Given the description of an element on the screen output the (x, y) to click on. 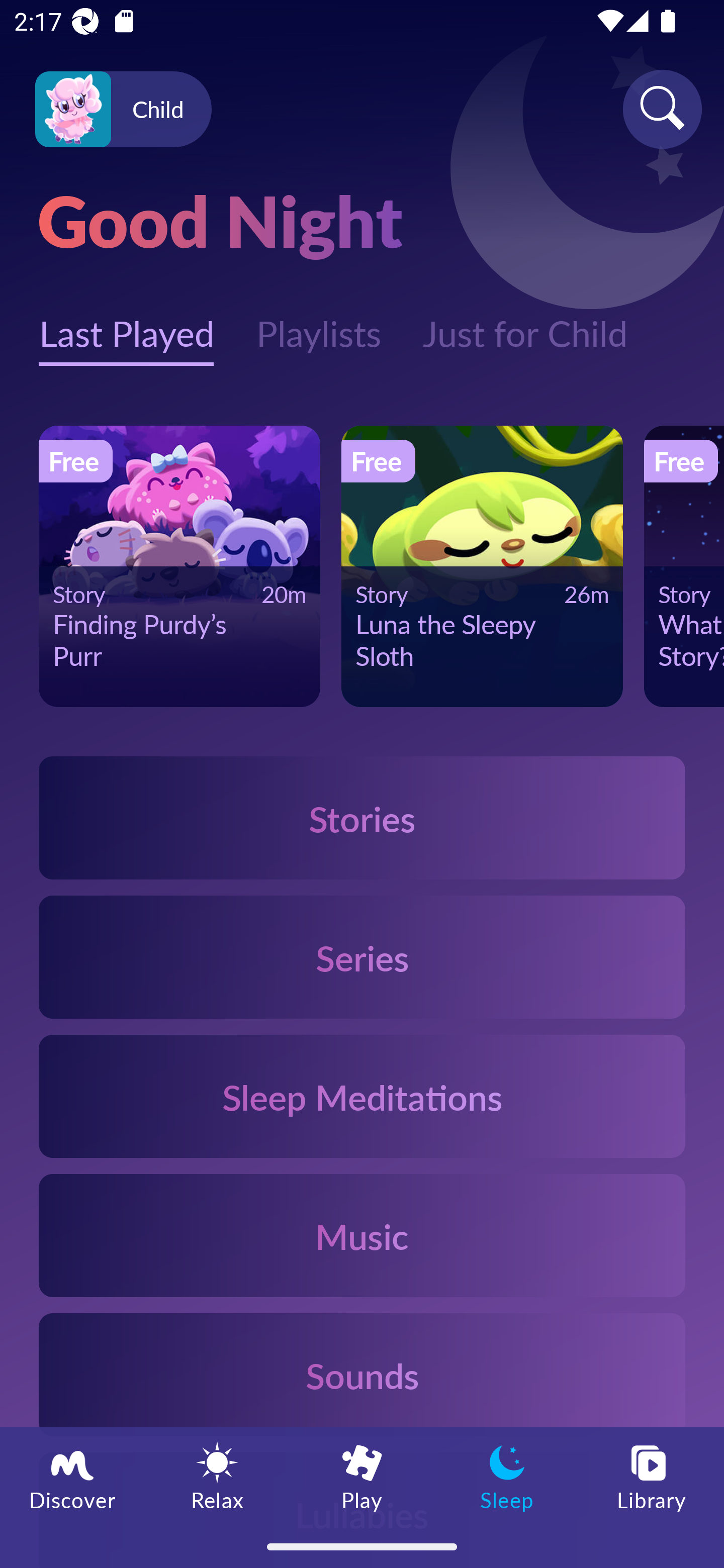
Profile icon Child (123, 109)
Playlists (317, 322)
Just for Child (524, 322)
Stories (361, 817)
Series (361, 957)
Sleep Meditations (361, 1096)
Music (361, 1234)
Sounds (361, 1374)
Discover (72, 1475)
Relax (216, 1475)
Play (361, 1475)
Library (651, 1475)
